Given the description of an element on the screen output the (x, y) to click on. 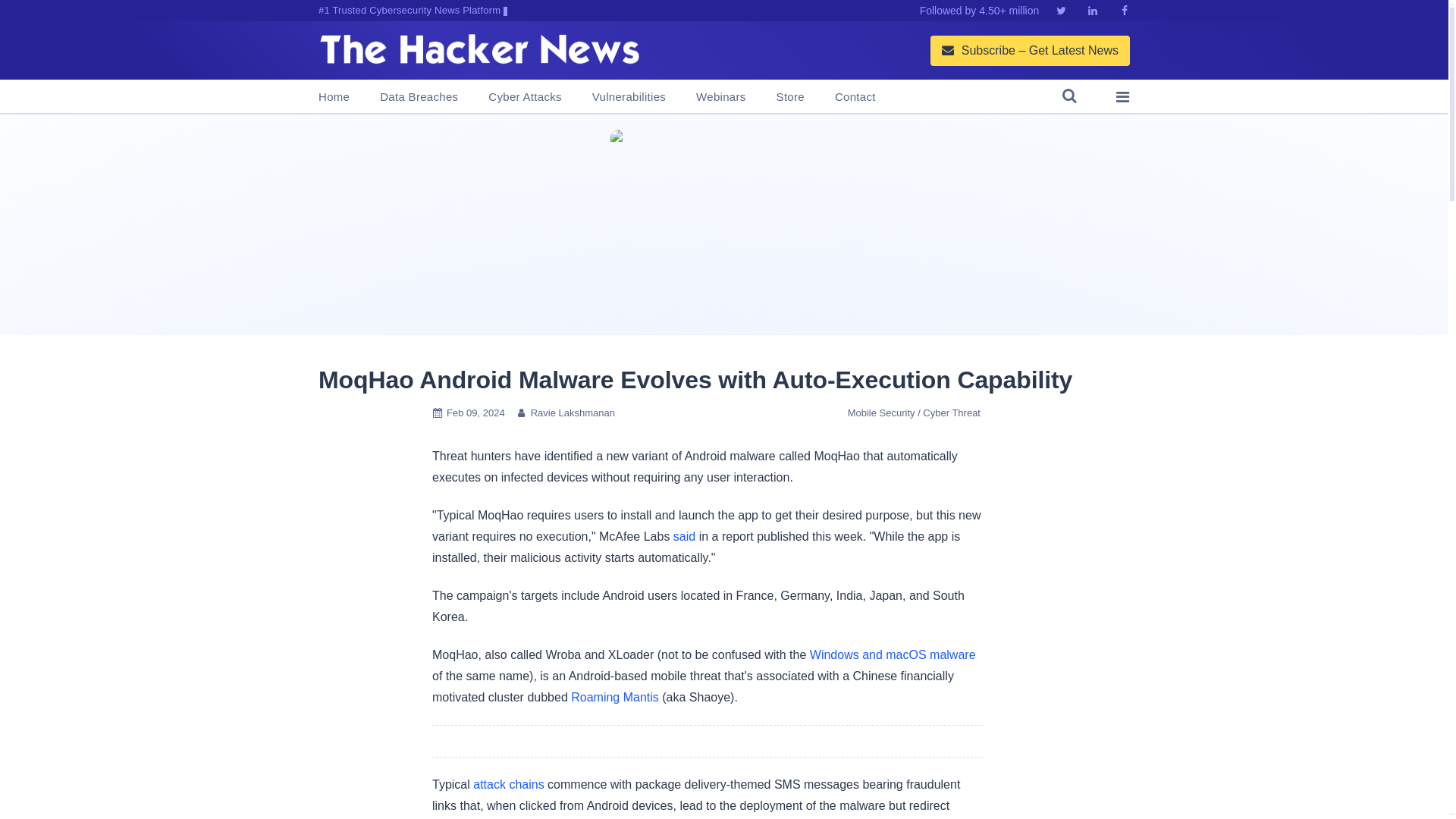
Cyber Attacks (523, 96)
said (683, 535)
Data Breaches (419, 96)
Vulnerabilities (628, 96)
Home (333, 96)
Contact (855, 96)
Webinars (720, 96)
Roaming Mantis (614, 697)
